Given the description of an element on the screen output the (x, y) to click on. 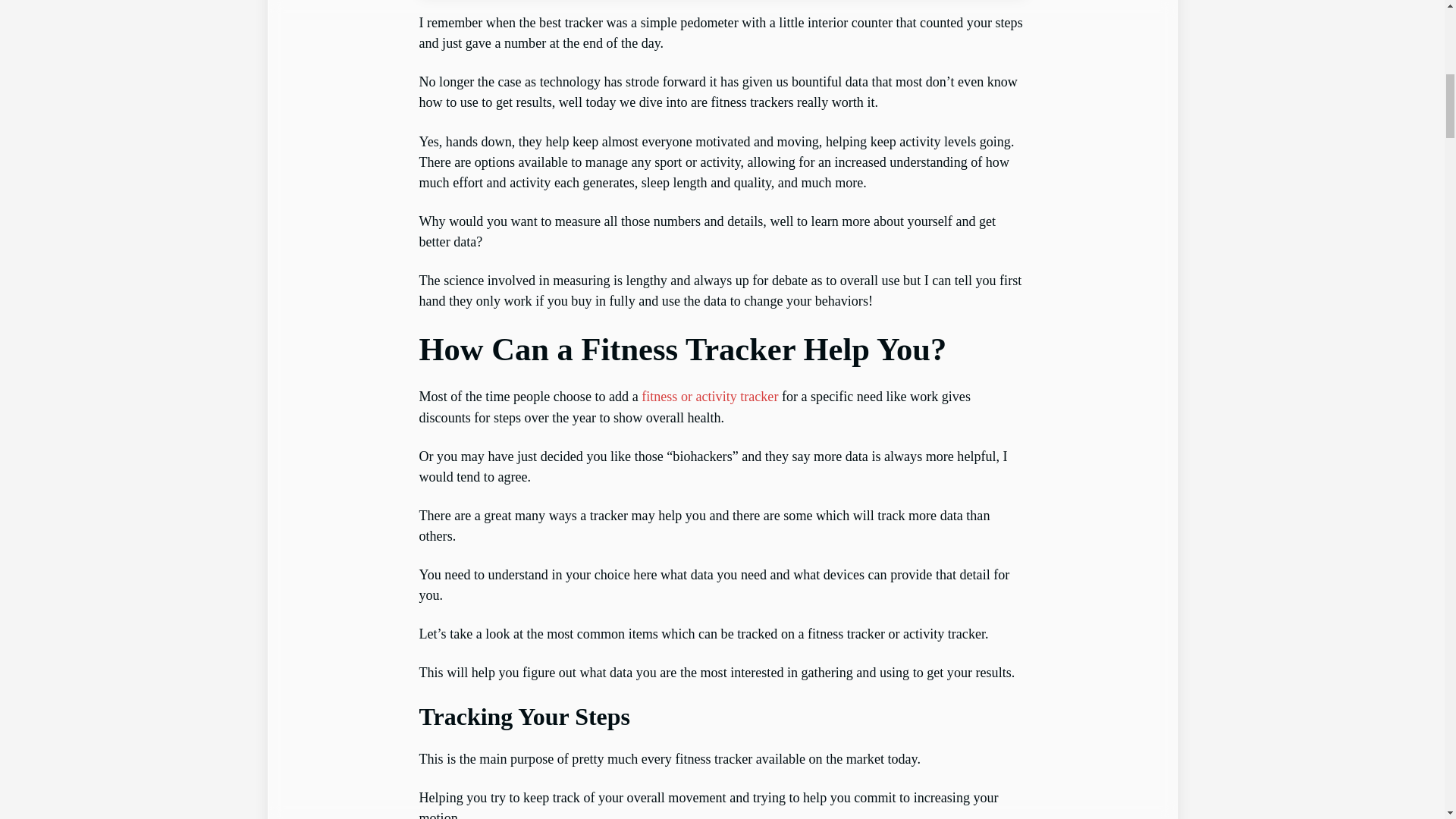
fitness or activity tracker (709, 396)
